Given the description of an element on the screen output the (x, y) to click on. 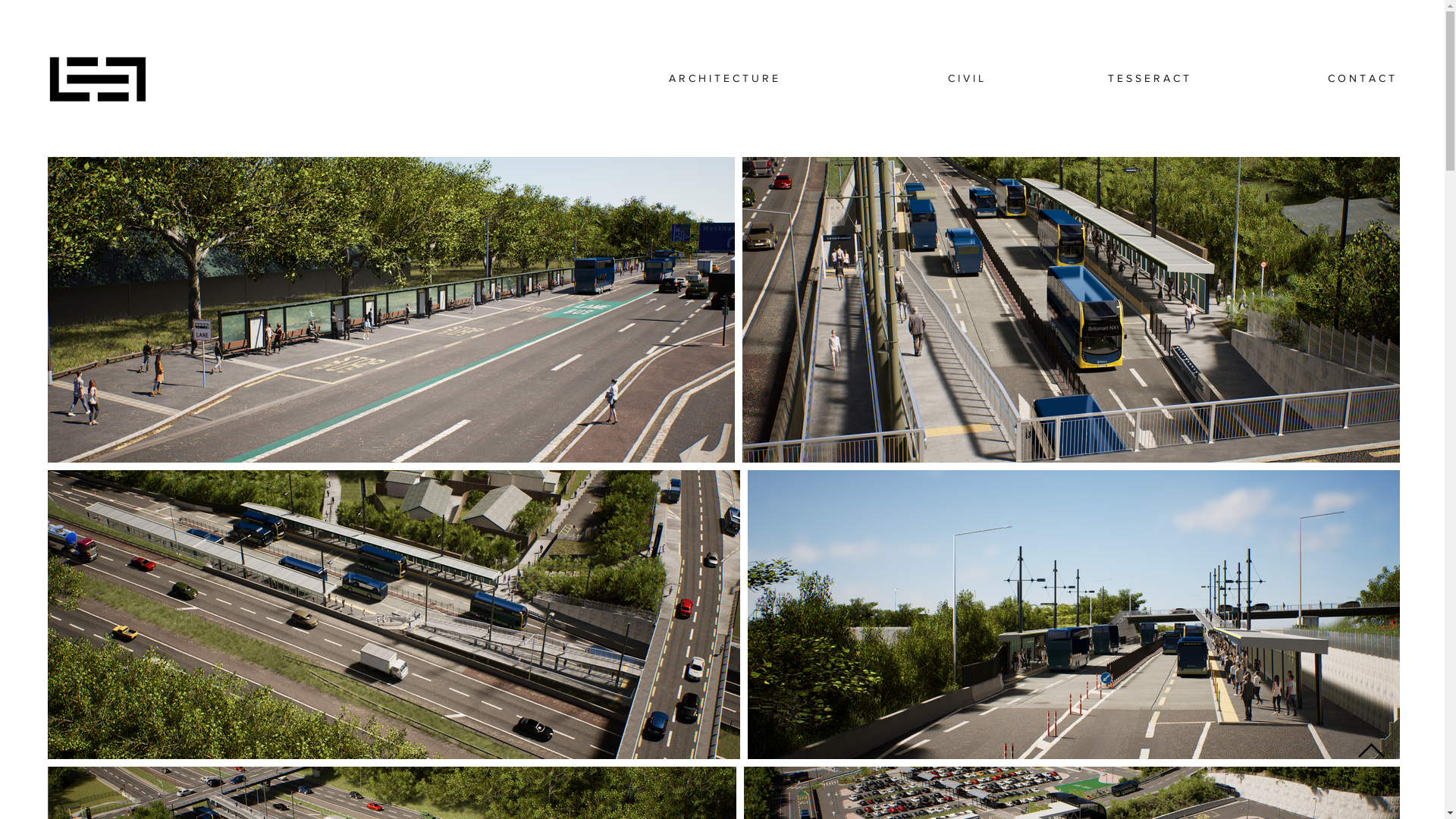
A R C H I T E C T U R E Element type: text (681, 77)
C O N T A C T Element type: text (1299, 77)
C I V I L Element type: text (888, 77)
TWIPLA (Visitor Analytics) Element type: hover (286, 126)
T E S S E R A C T Element type: text (1092, 77)
